Given the description of an element on the screen output the (x, y) to click on. 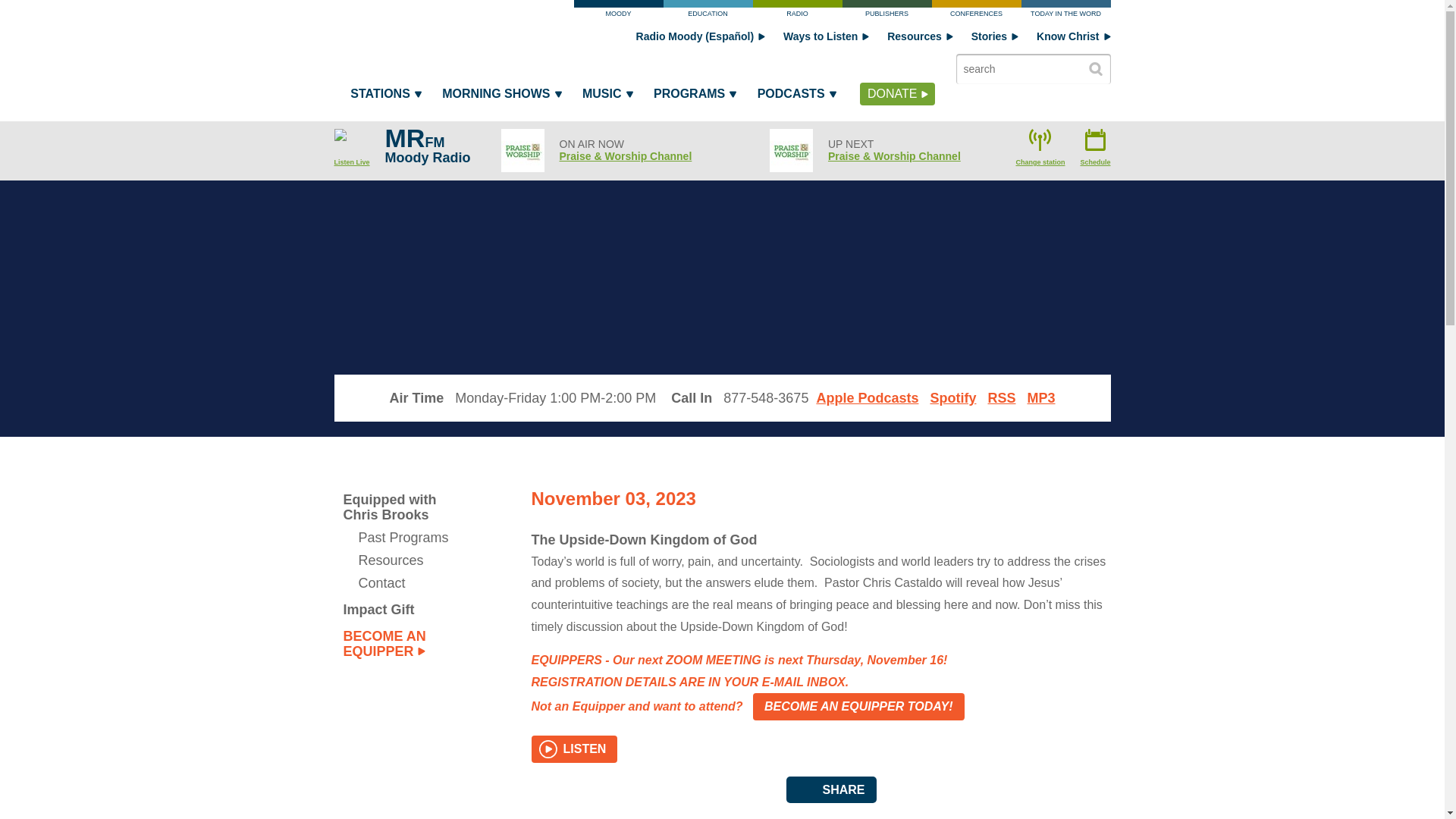
Spotify (952, 397)
CONFERENCES (975, 11)
PODCASTS (796, 97)
PUBLISHERS (886, 11)
Become an Equipper Today (857, 706)
MOODY (617, 11)
RADIO (796, 11)
EDUCATION (707, 11)
Know Christ (1072, 36)
Impact Gift (403, 609)
PROGRAMS (693, 97)
Equipped with Chris Brooks (403, 507)
RSS (1000, 397)
Resources (919, 36)
MP3 (1041, 397)
